Given the description of an element on the screen output the (x, y) to click on. 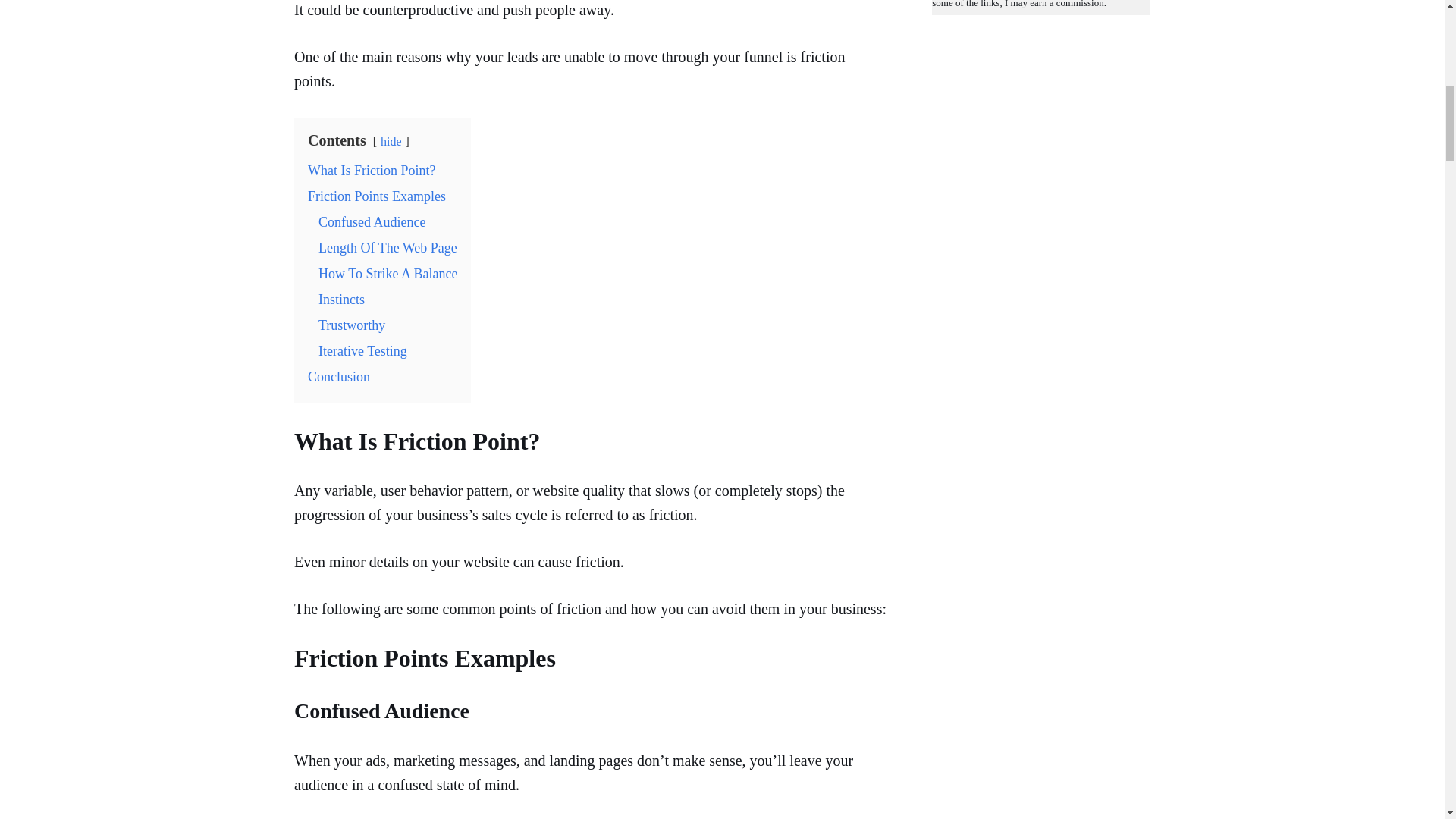
Friction Points Examples (376, 196)
Trustworthy (351, 324)
Instincts (341, 299)
hide (390, 141)
What Is Friction Point? (371, 170)
How To Strike A Balance (387, 273)
Length Of The Web Page (387, 247)
Confused Audience (371, 222)
Iterative Testing (362, 350)
Conclusion (338, 376)
